Given the description of an element on the screen output the (x, y) to click on. 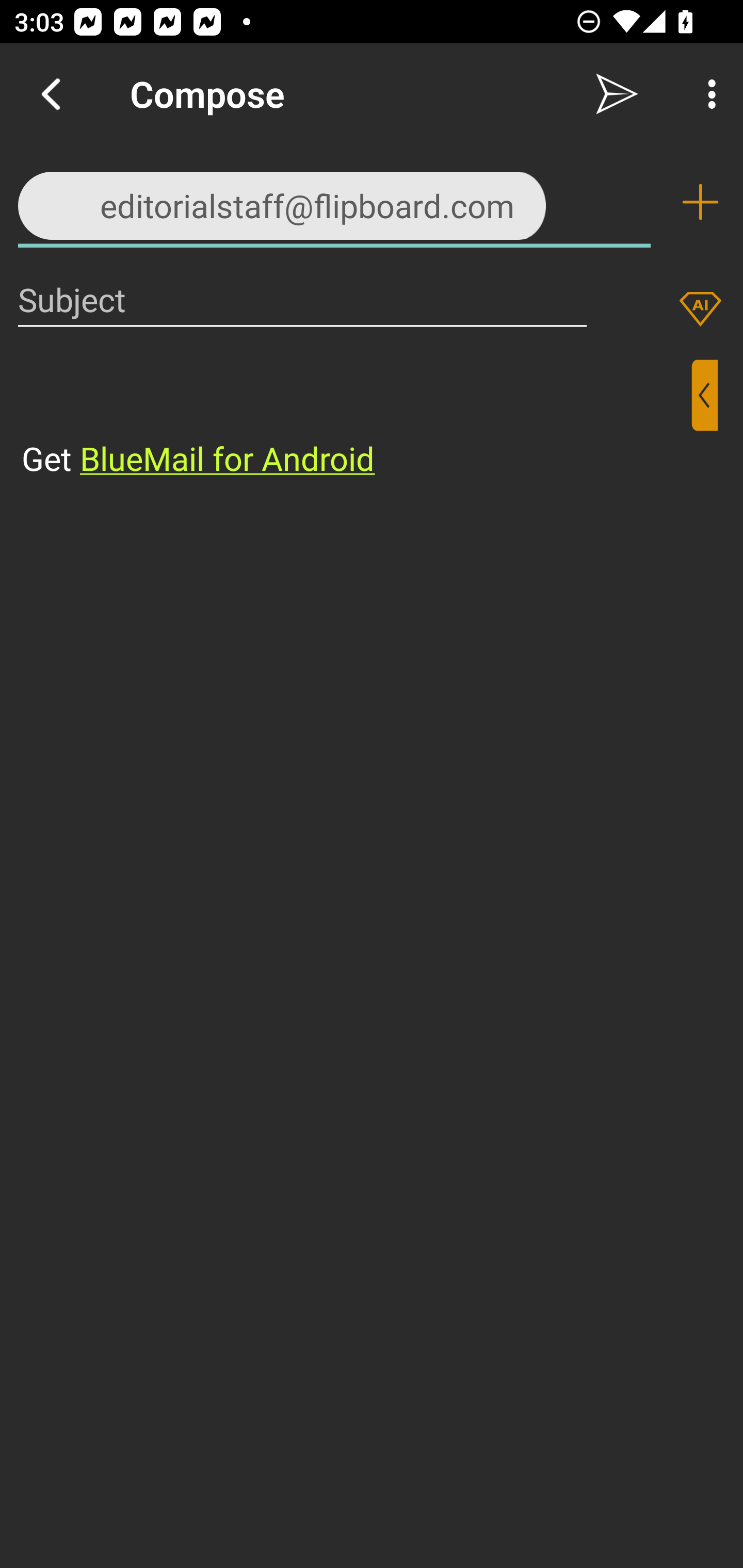
Navigate up (50, 93)
Send (616, 93)
More Options (706, 93)
<editorialstaff@flipboard.com>,  (334, 201)
Add recipient (To) (699, 201)
Subject (302, 299)


⁣Get BlueMail for Android ​ (355, 419)
